Given the description of an element on the screen output the (x, y) to click on. 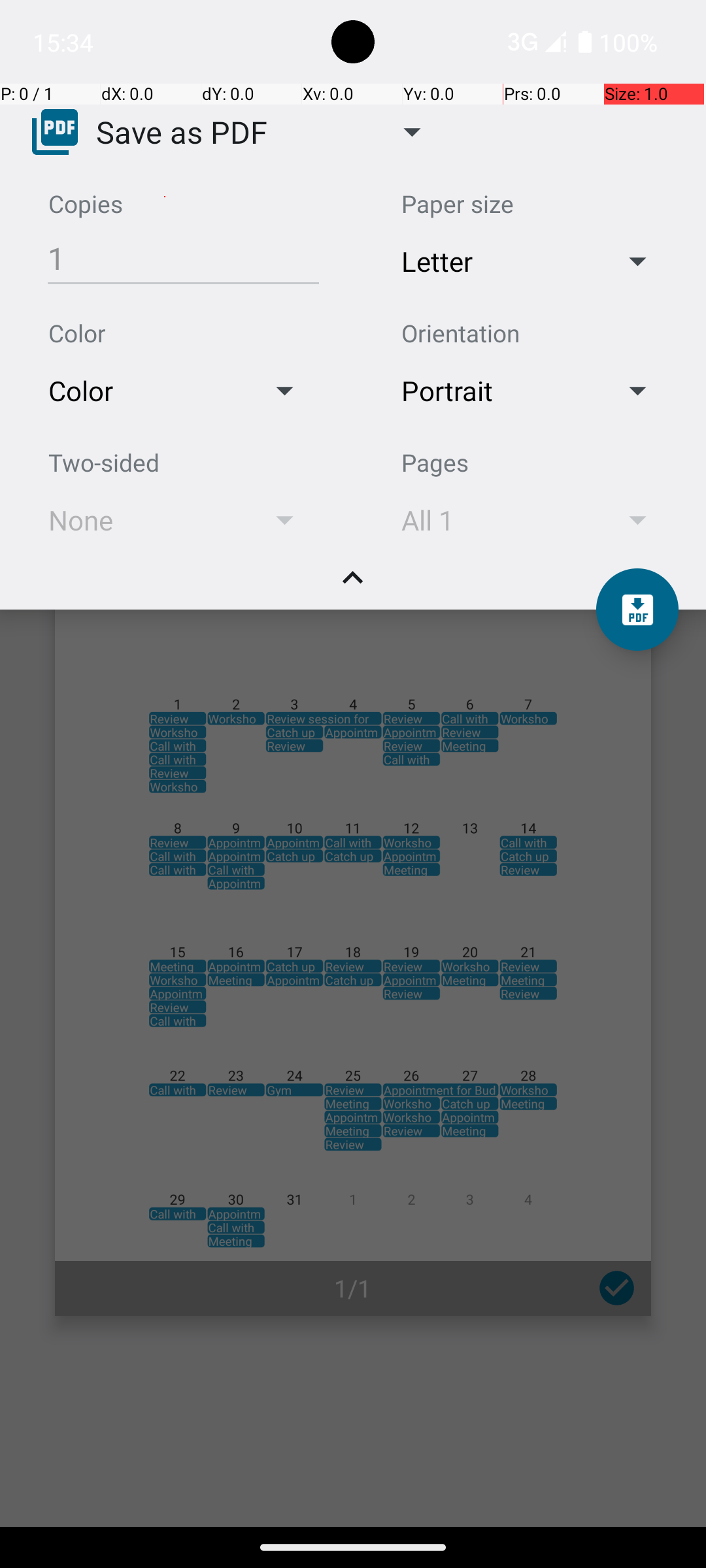
Copies Element type: android.widget.TextView (85, 203)
Paper size Element type: android.widget.TextView (457, 203)
Orientation Element type: android.widget.TextView (460, 332)
Two-sided Element type: android.widget.TextView (103, 461)
Pages Element type: android.widget.TextView (434, 461)
Collapse handle Element type: android.widget.FrameLayout (353, 585)
Save to PDF Element type: android.widget.ImageButton (637, 609)
Save as PDF Element type: android.widget.TextView (182, 131)
Letter Element type: android.widget.CheckedTextView (491, 261)
Portrait Element type: android.widget.CheckedTextView (491, 390)
All 1 Element type: android.widget.CheckedTextView (491, 519)
Page 1 of 1 Element type: android.widget.CompoundButton (352, 902)
1/1 Element type: android.widget.TextView (352, 1287)
